Given the description of an element on the screen output the (x, y) to click on. 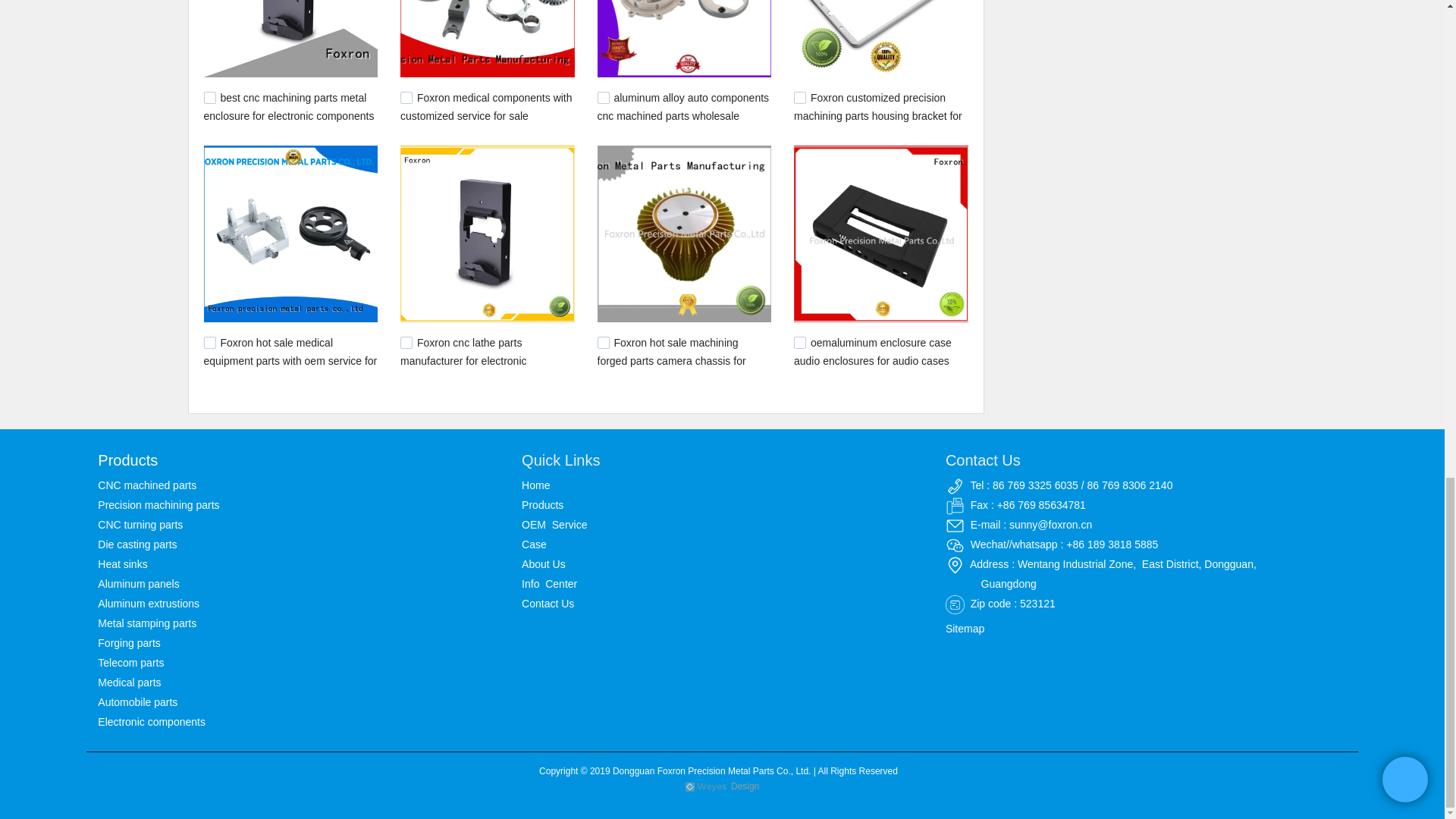
1533 (209, 342)
1773 (406, 97)
Foxron medical components with customized service for sale (486, 106)
776 (799, 342)
aluminum alloy auto components cnc machined parts wholesale (683, 106)
1122 (406, 342)
810 (603, 342)
1768 (603, 97)
oemaluminum enclosure case audio enclosures for audio cases (872, 351)
1838 (209, 97)
1583 (799, 97)
